Given the description of an element on the screen output the (x, y) to click on. 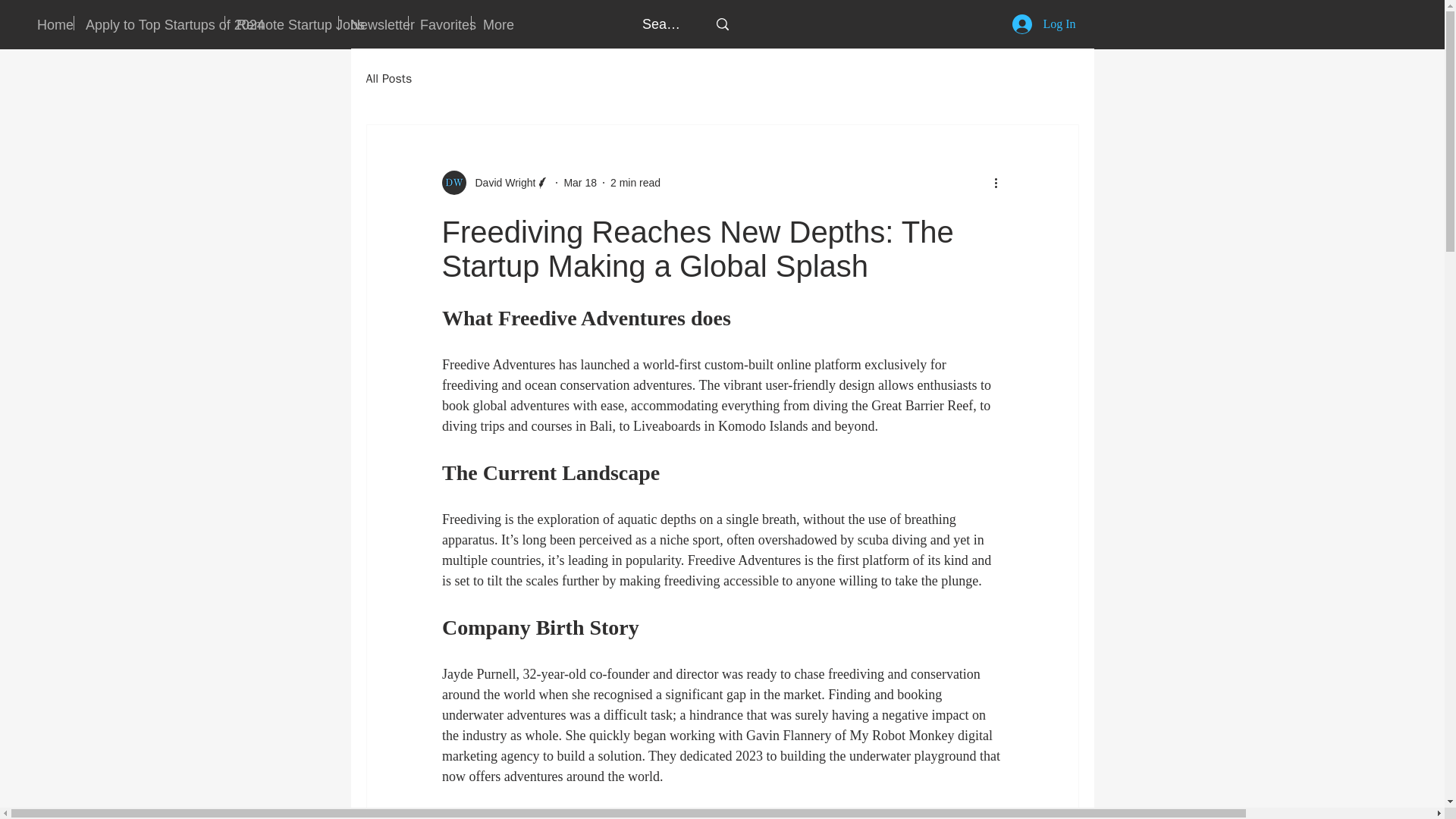
Apply to Top Startups of 2024 (149, 22)
All Posts (388, 78)
Favorites (439, 22)
Remote Startup Jobs (281, 22)
Home (50, 22)
David Wright (500, 182)
David Wright (495, 182)
Log In (1043, 23)
Newsletter (373, 22)
Mar 18 (579, 182)
2 min read (635, 182)
